Given the description of an element on the screen output the (x, y) to click on. 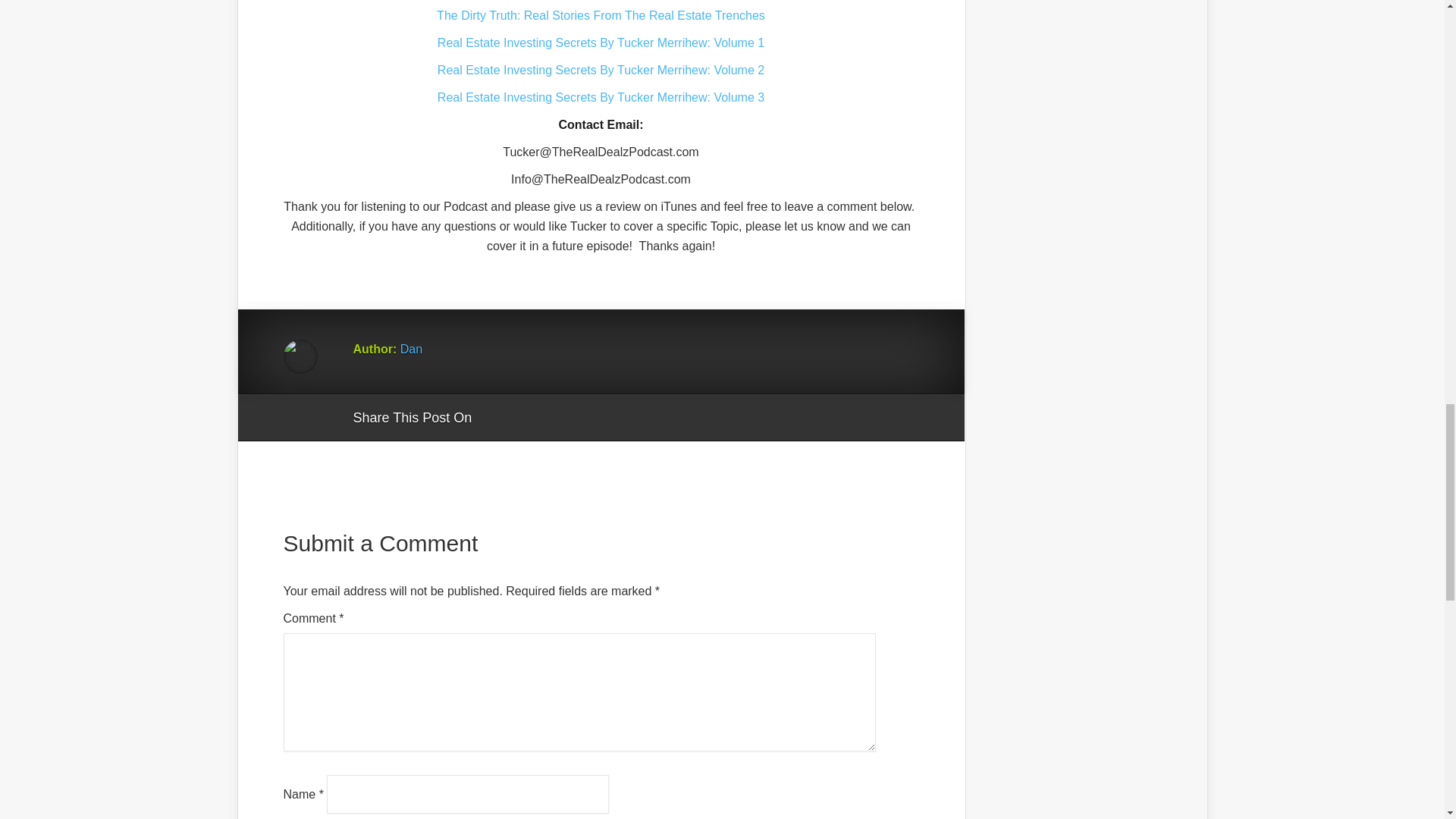
The Dirty Truth: Real Stories From The Real Estate Trenches (600, 15)
Real Estate Investing Secrets By Tucker Merrihew: Volume 1 (601, 42)
Real Estate Investing Secrets By Tucker Merrihew: Volume 2 (601, 69)
